Given the description of an element on the screen output the (x, y) to click on. 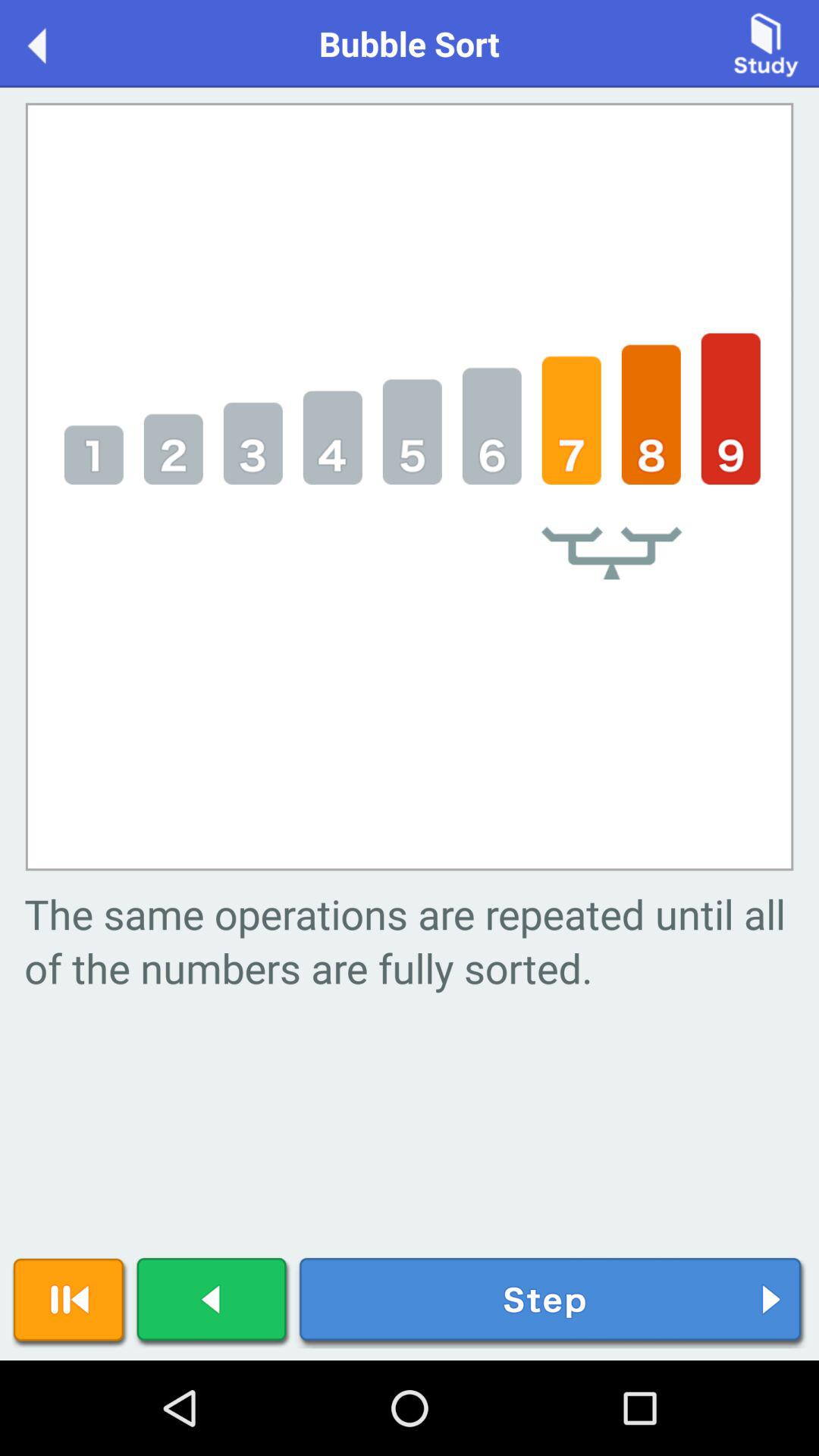
study button (766, 42)
